Given the description of an element on the screen output the (x, y) to click on. 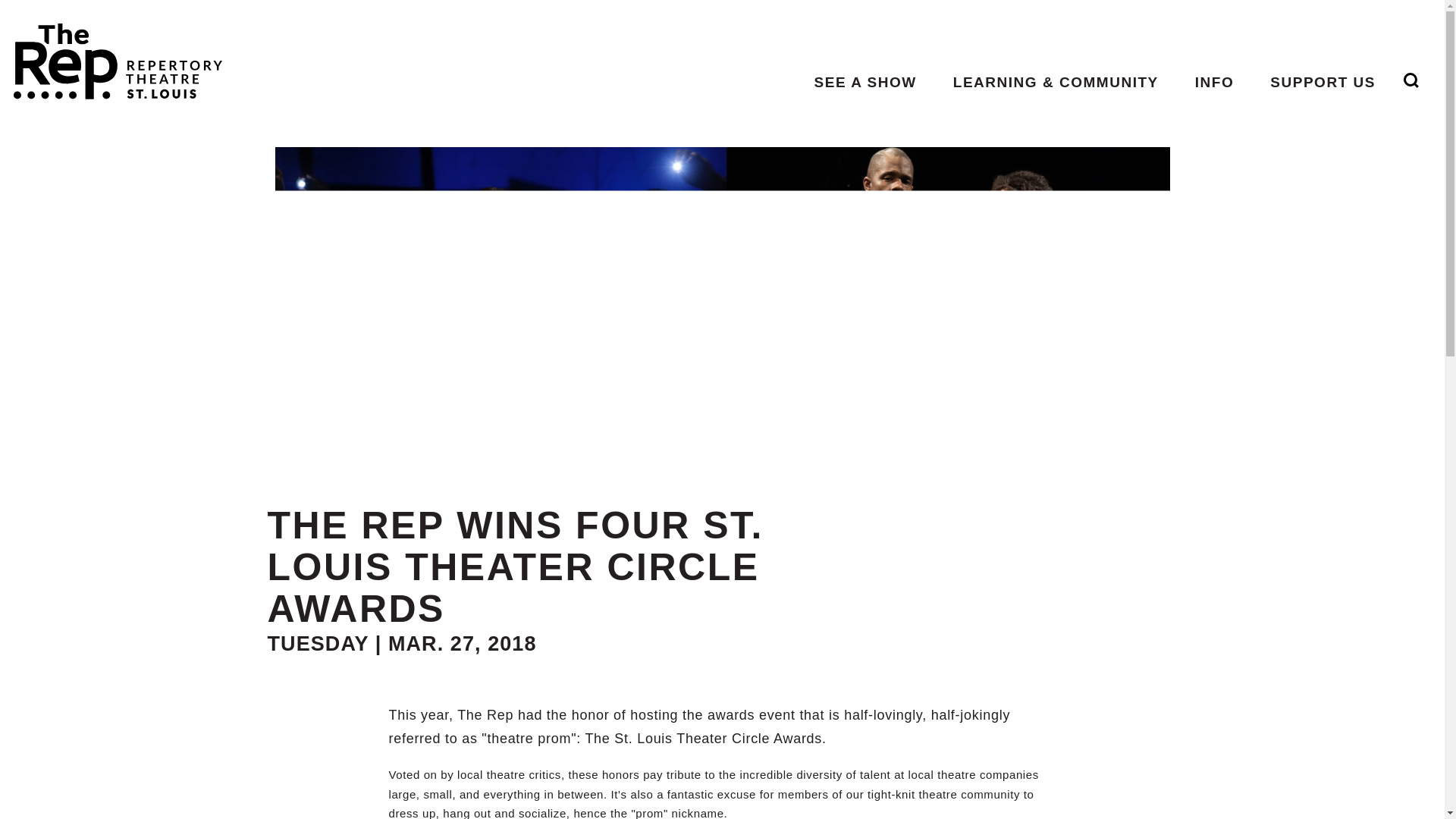
INFO (1214, 82)
SEE A SHOW (865, 82)
Repertory Theatre of St. Louis (111, 54)
SUPPORT US (1322, 82)
Repertory Theatre of St. Louis (111, 54)
